Given the description of an element on the screen output the (x, y) to click on. 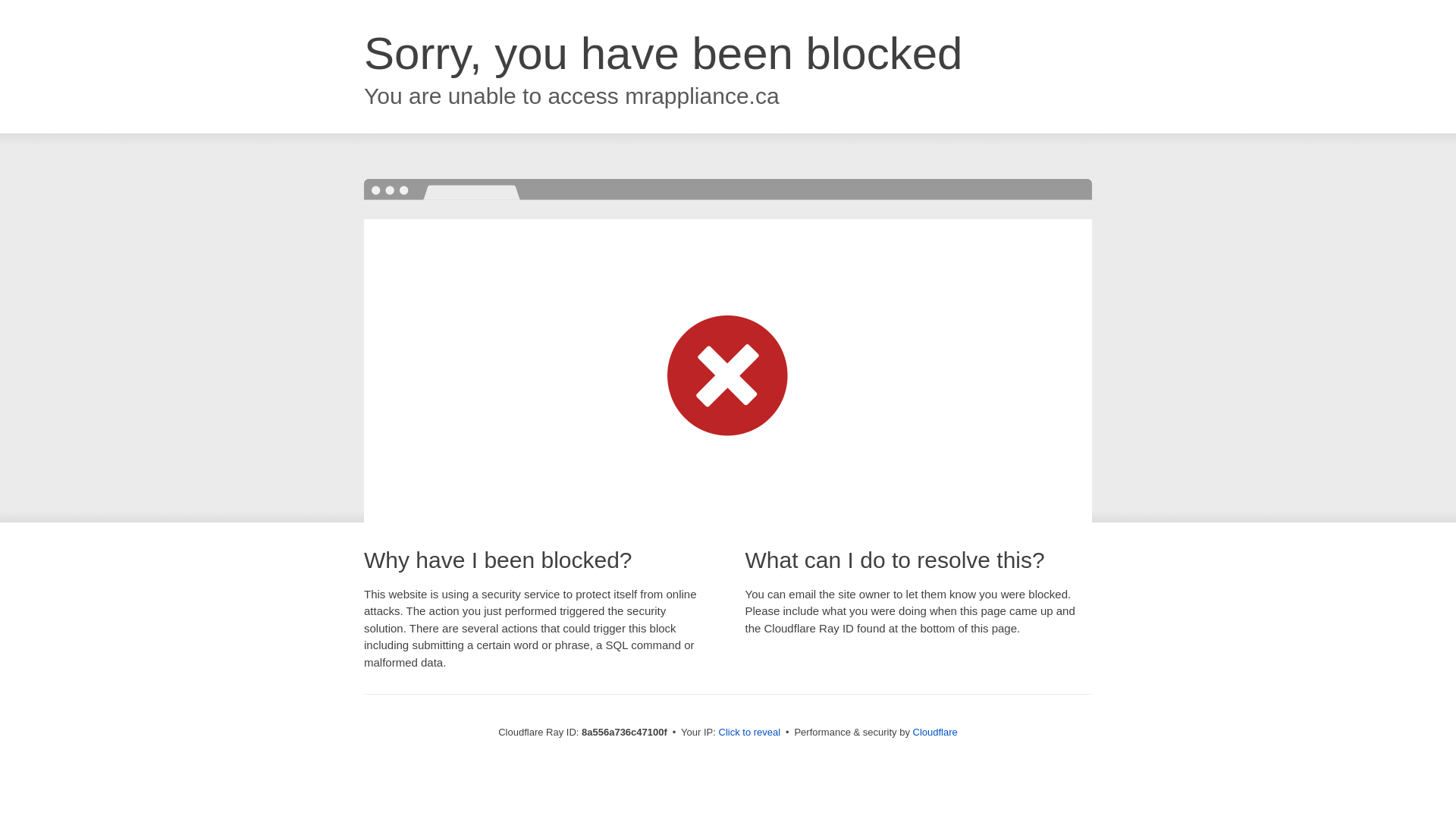
Click to reveal (749, 732)
Cloudflare (935, 731)
